Given the description of an element on the screen output the (x, y) to click on. 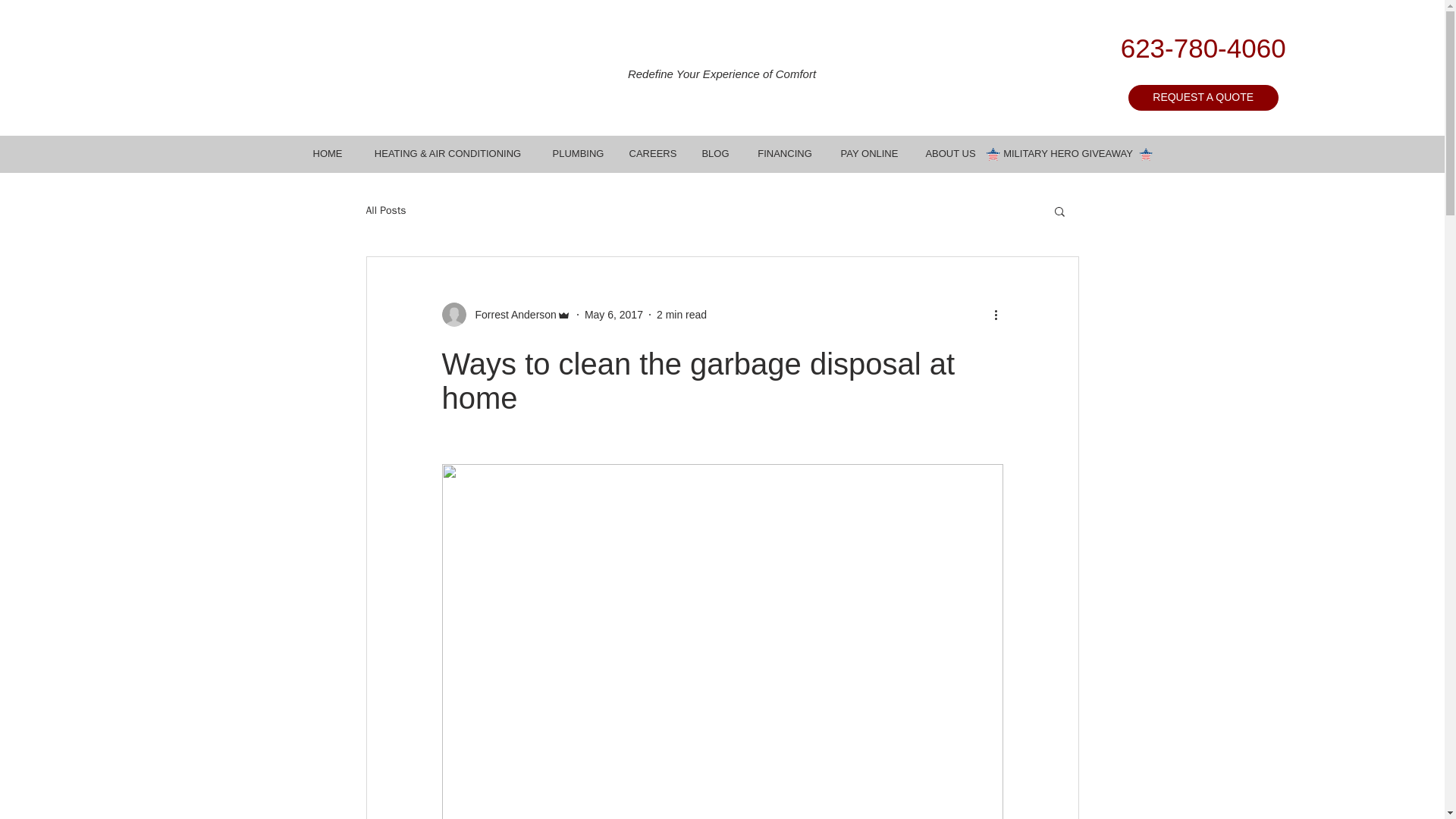
Forrest Anderson (505, 314)
REQUEST A QUOTE (1203, 97)
ABOUT US (949, 153)
PAY ONLINE (869, 153)
FINANCING (784, 153)
PLUMBING (577, 153)
May 6, 2017 (614, 313)
All Posts (385, 210)
MILITARY HERO GIVEAWAY (1067, 153)
Forrest Anderson (510, 314)
623-780-4060 (1203, 48)
CAREERS (652, 153)
BLOG (715, 153)
2 min read (681, 313)
HOME (327, 153)
